Given the description of an element on the screen output the (x, y) to click on. 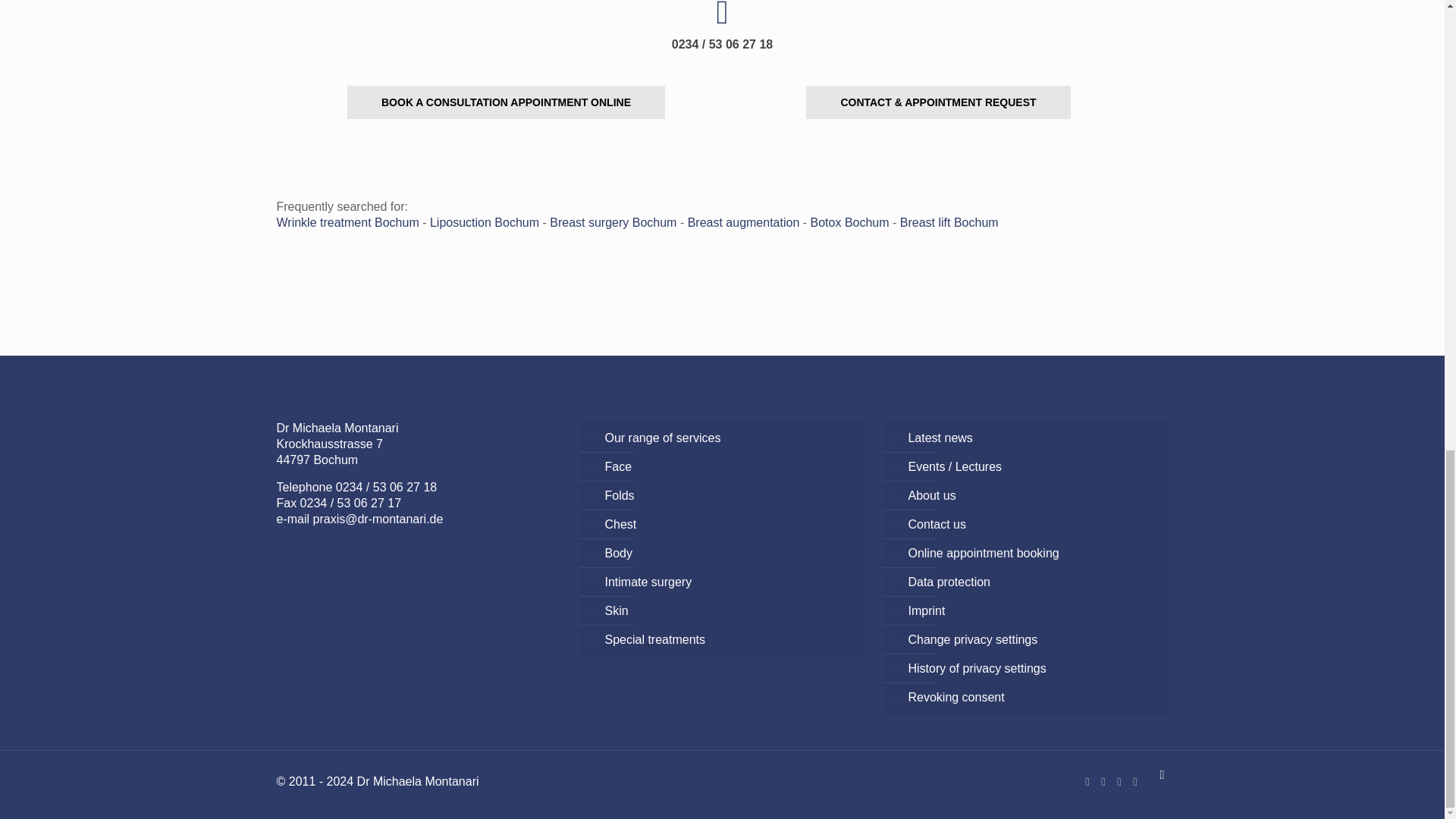
Breast surgery Bochum (613, 222)
Botox Bochum (849, 222)
Liposuction Bochum (483, 222)
Breast augmentation (743, 222)
Wrinkle treatment Bochum (347, 222)
